Given the description of an element on the screen output the (x, y) to click on. 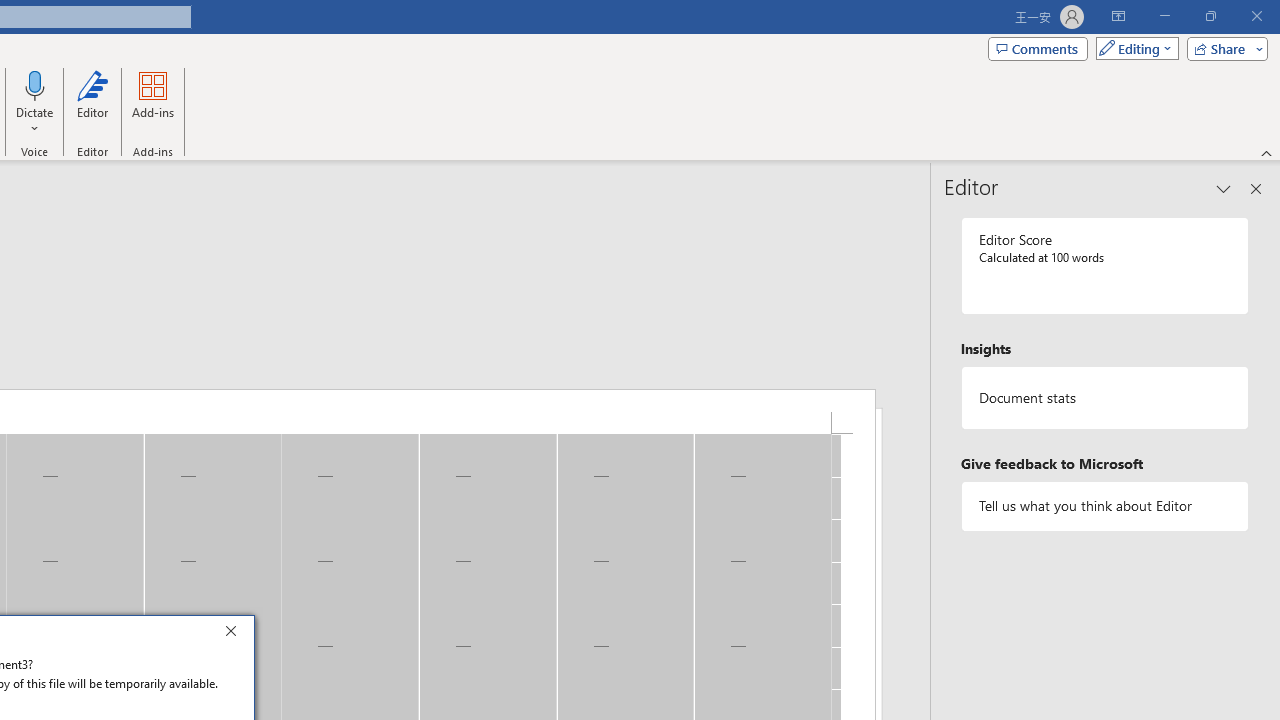
Comments (1038, 48)
Editor (92, 102)
Ribbon Display Options (1118, 16)
Close pane (1256, 188)
